Given the description of an element on the screen output the (x, y) to click on. 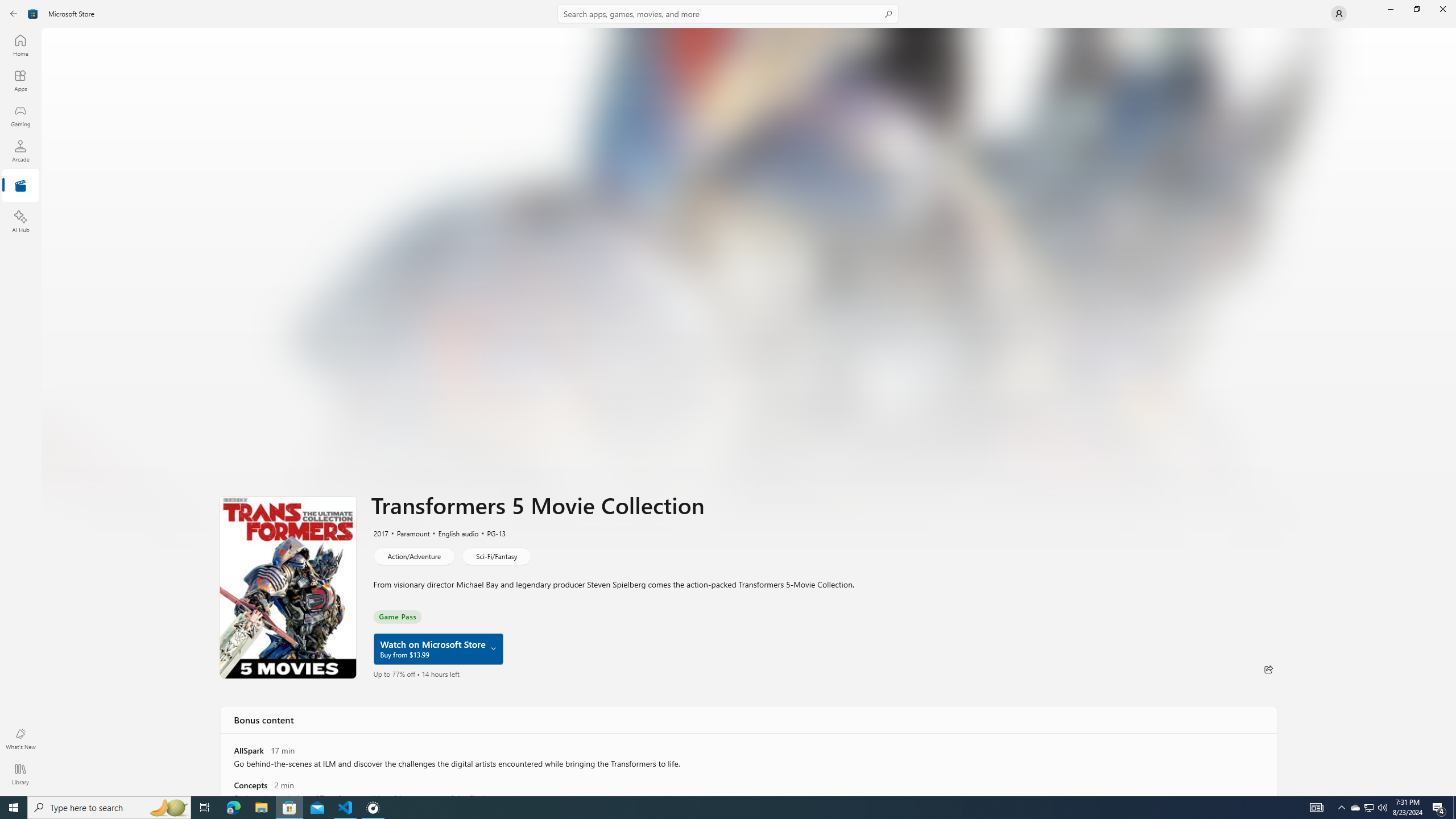
Close Microsoft Store (1442, 9)
Minimize Microsoft Store (1390, 9)
PG-13 (490, 533)
Restore Microsoft Store (1416, 9)
English audio (453, 533)
AutomationID: NavigationControl (728, 398)
Library (20, 773)
Share (1267, 669)
Class: Image (32, 13)
